Given the description of an element on the screen output the (x, y) to click on. 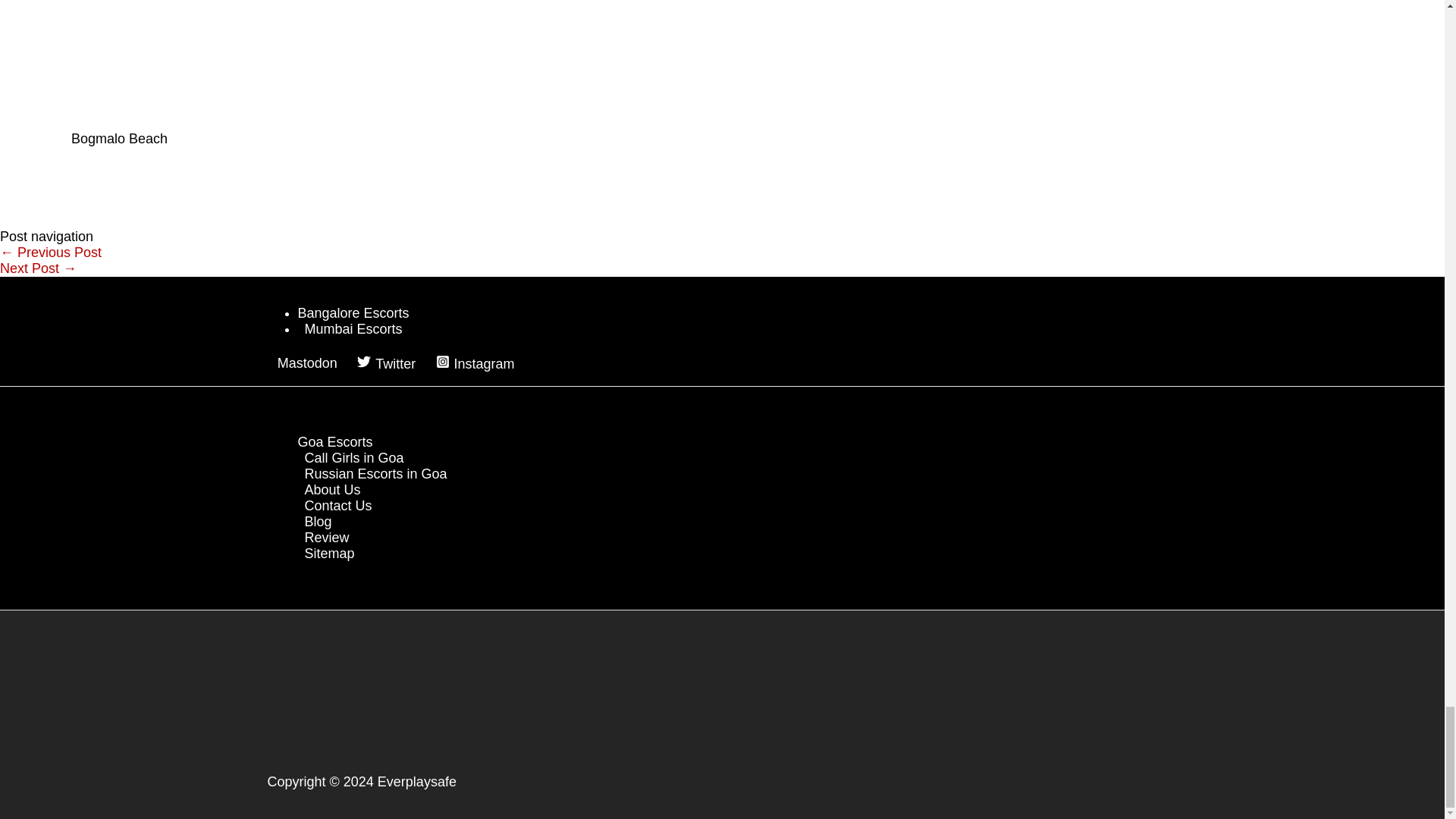
Bangalore Escorts (353, 313)
